Given the description of an element on the screen output the (x, y) to click on. 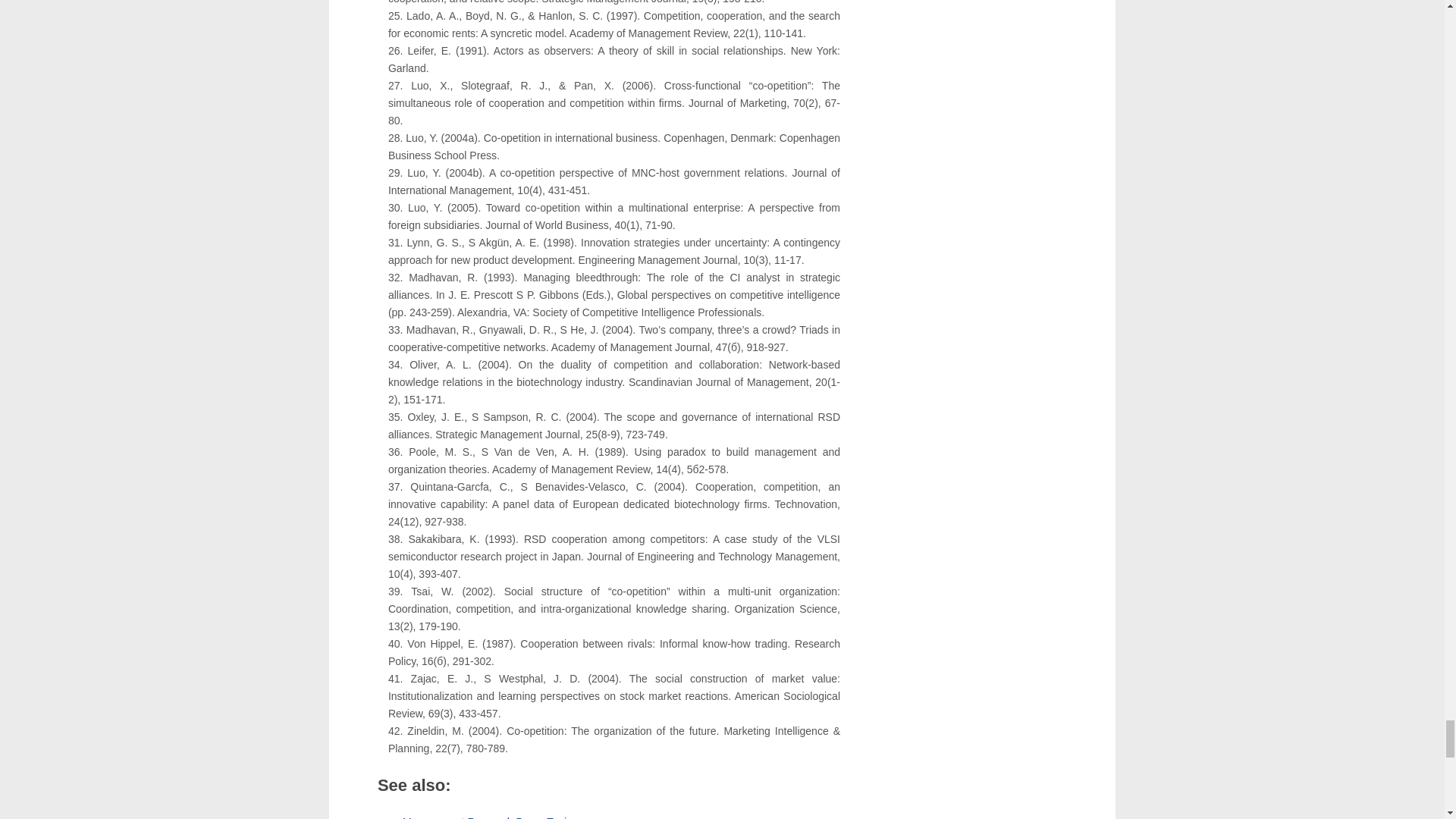
Management Research Paper Topics (489, 817)
